Given the description of an element on the screen output the (x, y) to click on. 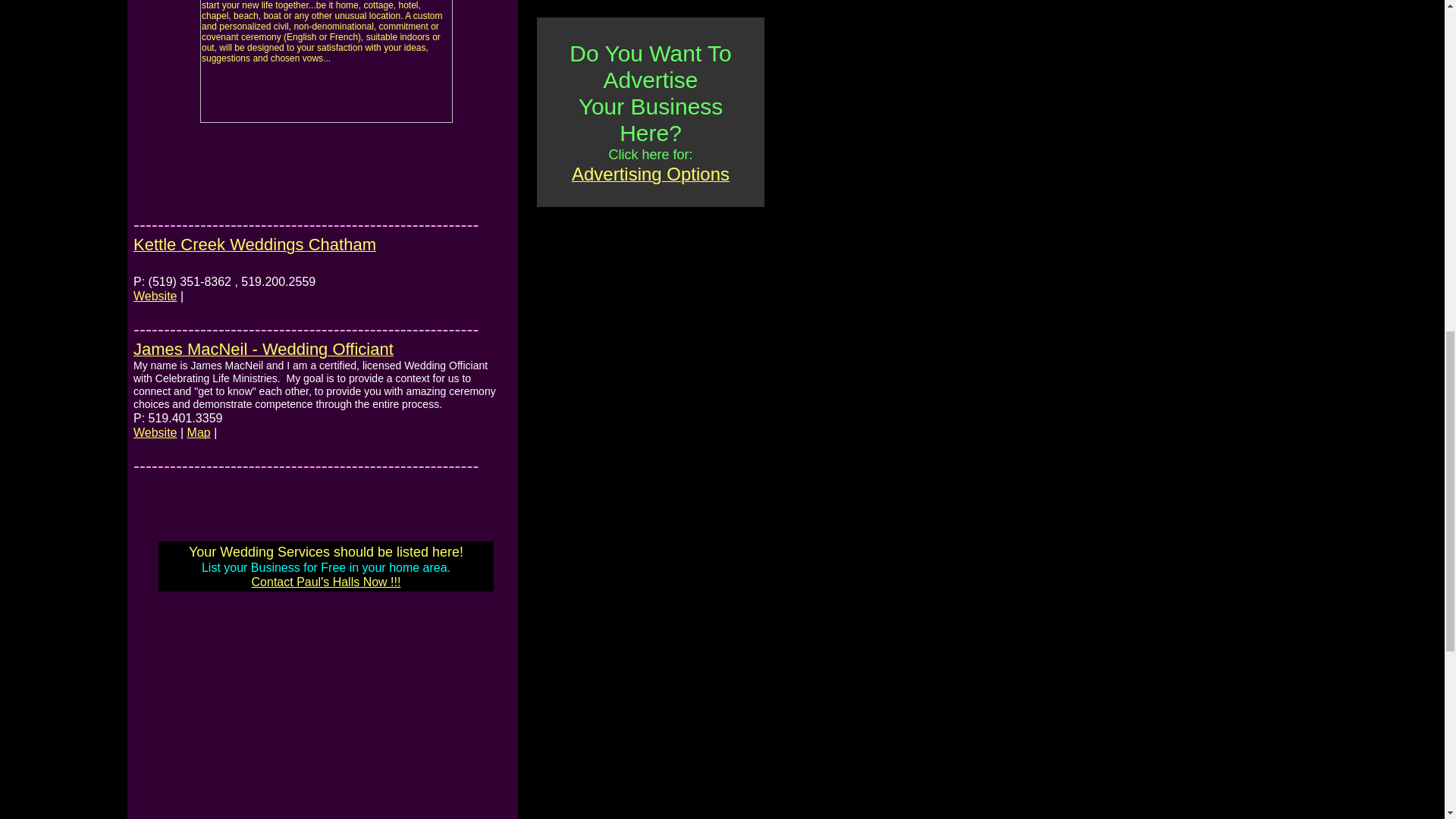
Contact Paul's Halls (305, 581)
dvertising Options (656, 175)
Website (155, 296)
A (577, 175)
Now !!! (379, 581)
James MacNeil - Wedding Officiant (263, 351)
Website (155, 433)
Kettle Creek Weddings Chatham (254, 256)
Map (199, 433)
